Given the description of an element on the screen output the (x, y) to click on. 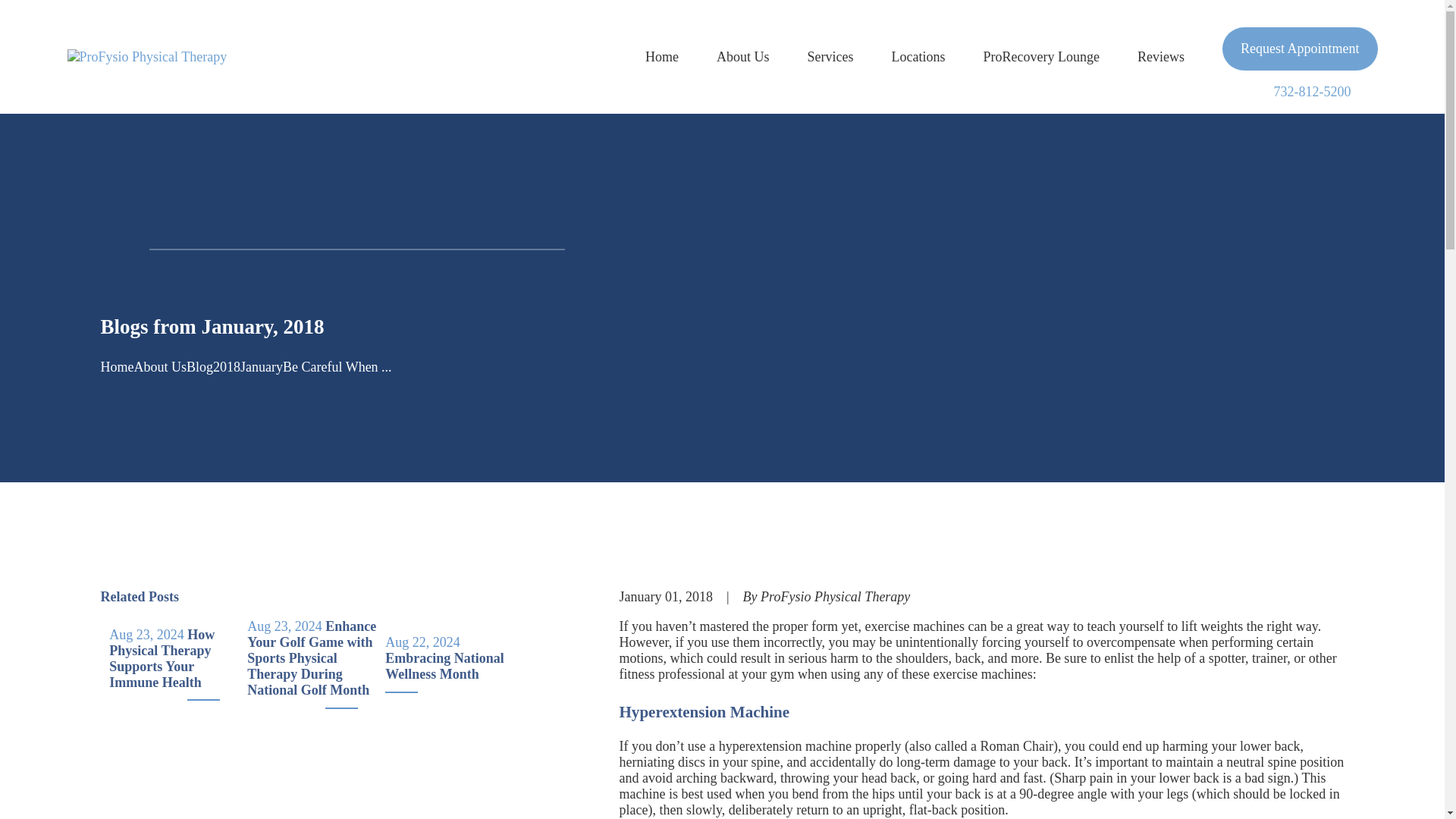
About Us (743, 56)
Go Home (116, 366)
Services (830, 56)
Home (146, 56)
